Given the description of an element on the screen output the (x, y) to click on. 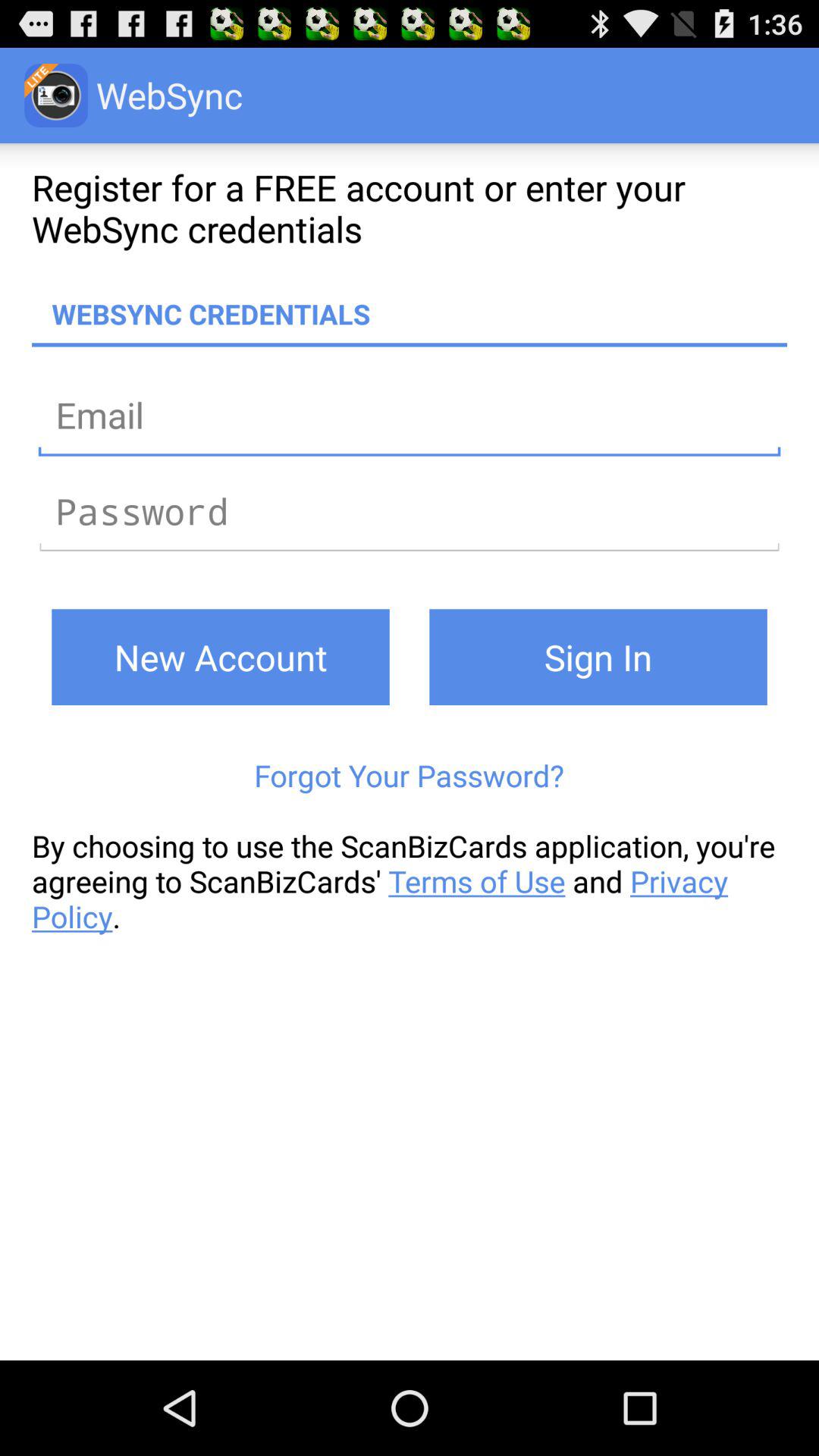
launch the app above the forgot your password? (598, 657)
